Given the description of an element on the screen output the (x, y) to click on. 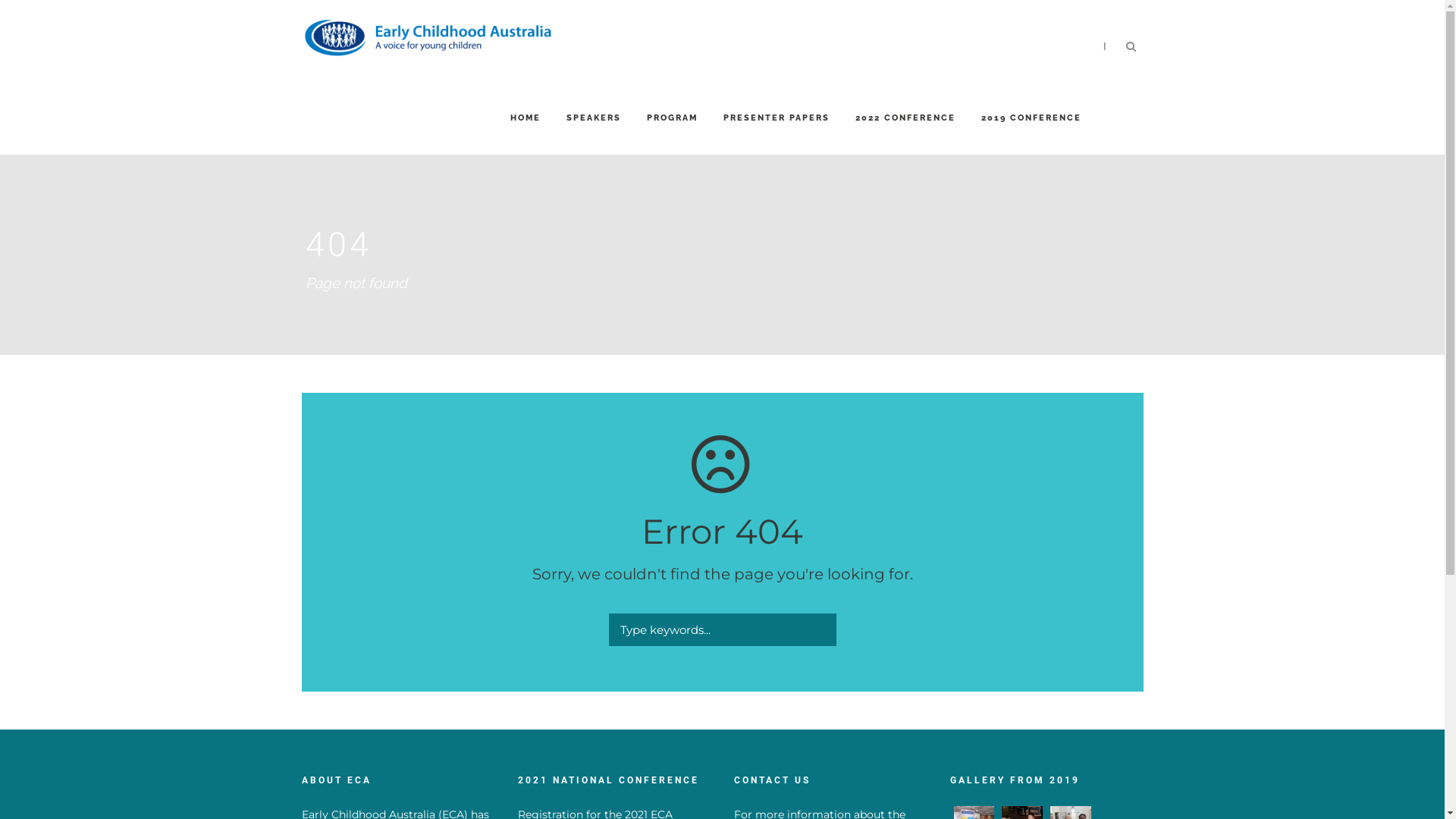
PROGRAM Element type: text (671, 132)
PRESENTER PAPERS Element type: text (776, 132)
SPEAKERS Element type: text (592, 132)
2019 CONFERENCE Element type: text (1031, 132)
HOME Element type: text (524, 132)
2022 CONFERENCE Element type: text (905, 132)
